Given the description of an element on the screen output the (x, y) to click on. 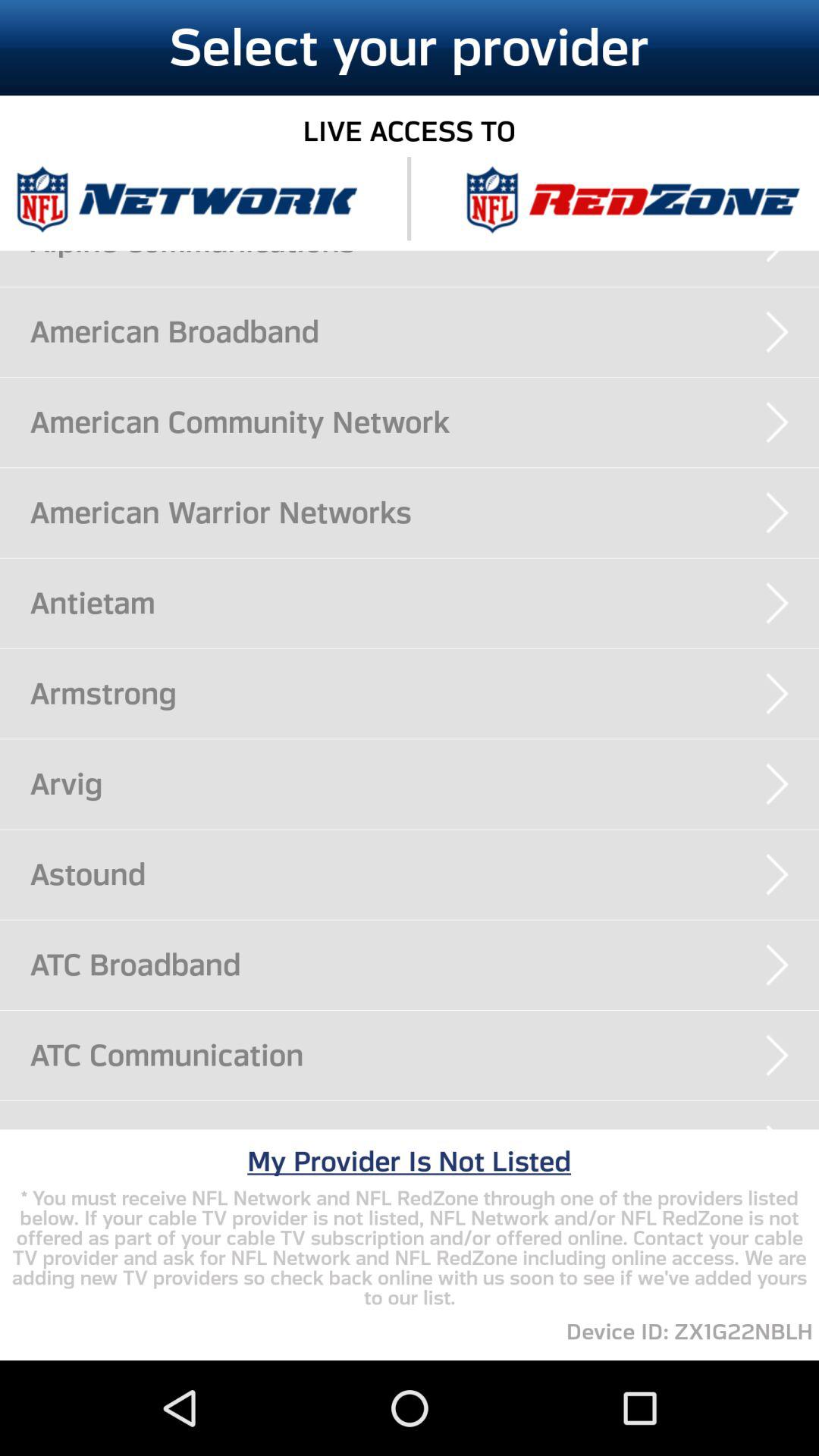
open atc broadband item (424, 964)
